Given the description of an element on the screen output the (x, y) to click on. 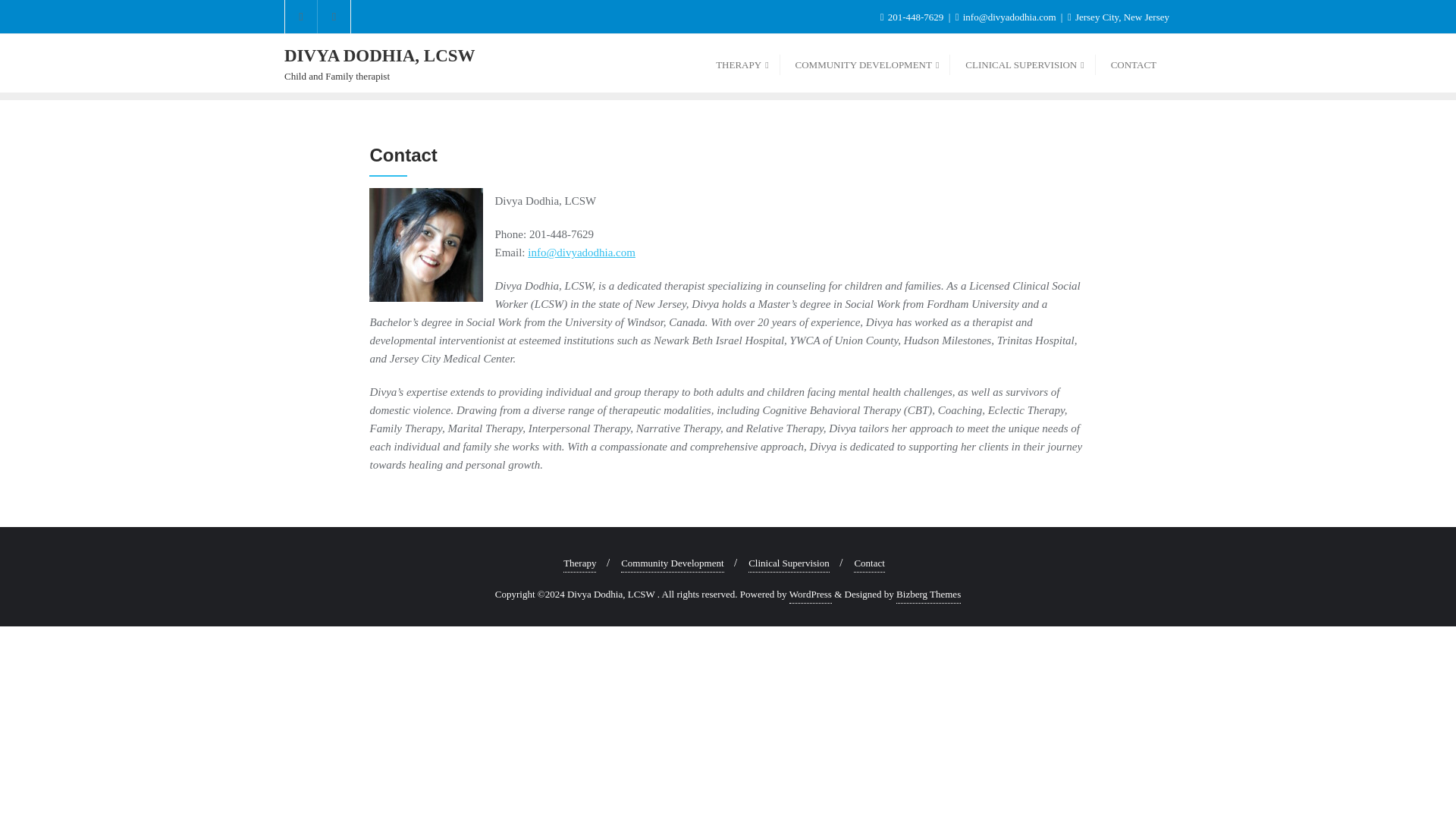
COMMUNITY DEVELOPMENT (865, 63)
WordPress (810, 594)
Clinical Supervision (379, 63)
THERAPY (788, 563)
Therapy (739, 63)
Community Development (579, 563)
CONTACT (672, 563)
CLINICAL SUPERVISION (1134, 63)
Contact (1022, 63)
